Given the description of an element on the screen output the (x, y) to click on. 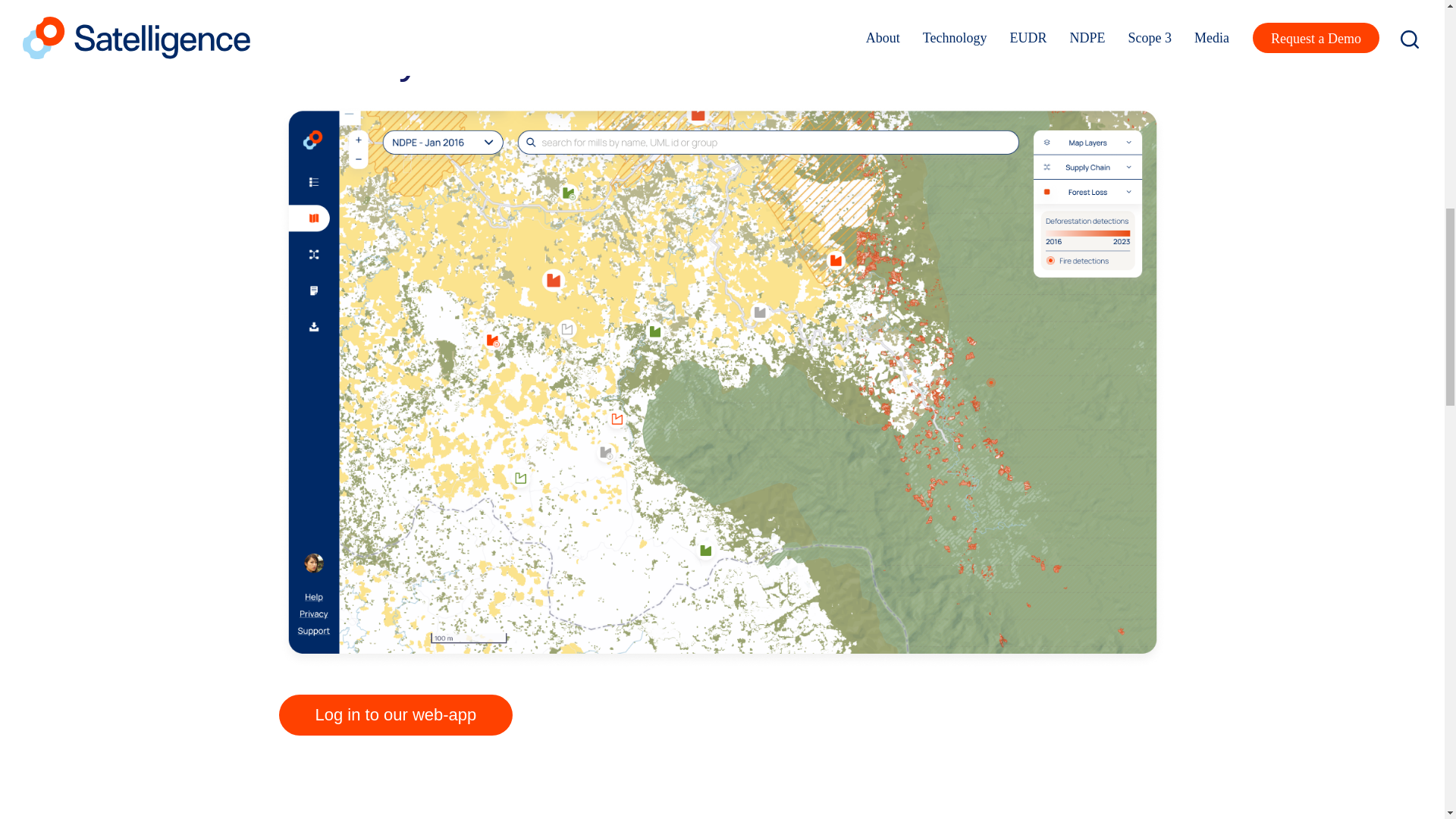
Log in to our web-app (396, 714)
